Given the description of an element on the screen output the (x, y) to click on. 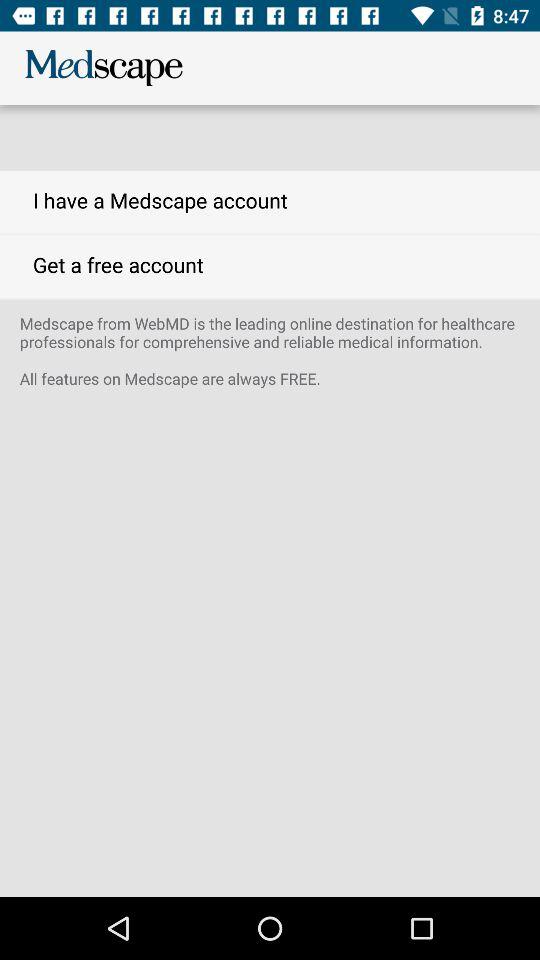
jump to i have a item (270, 201)
